Given the description of an element on the screen output the (x, y) to click on. 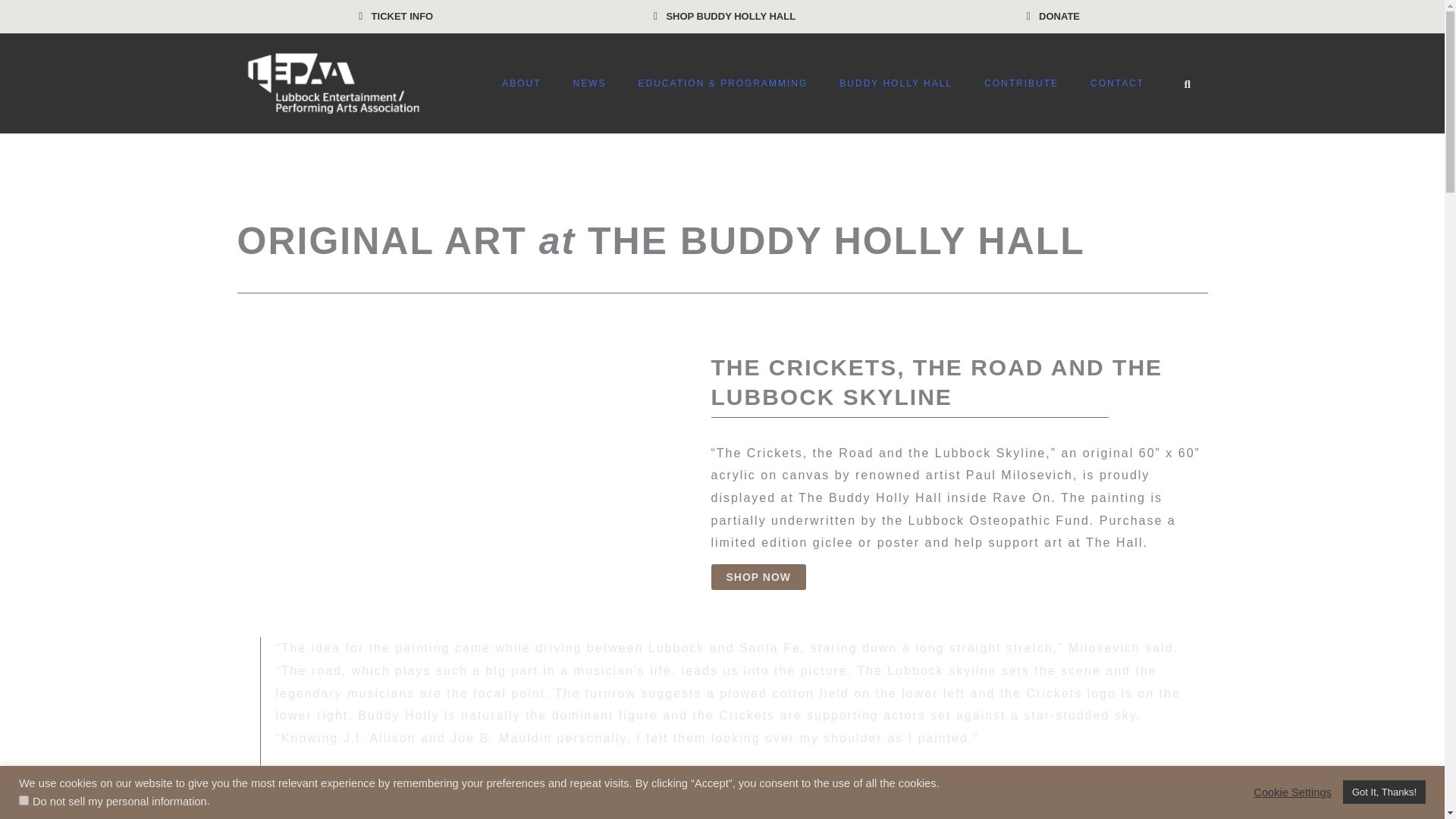
on (23, 800)
